Given the description of an element on the screen output the (x, y) to click on. 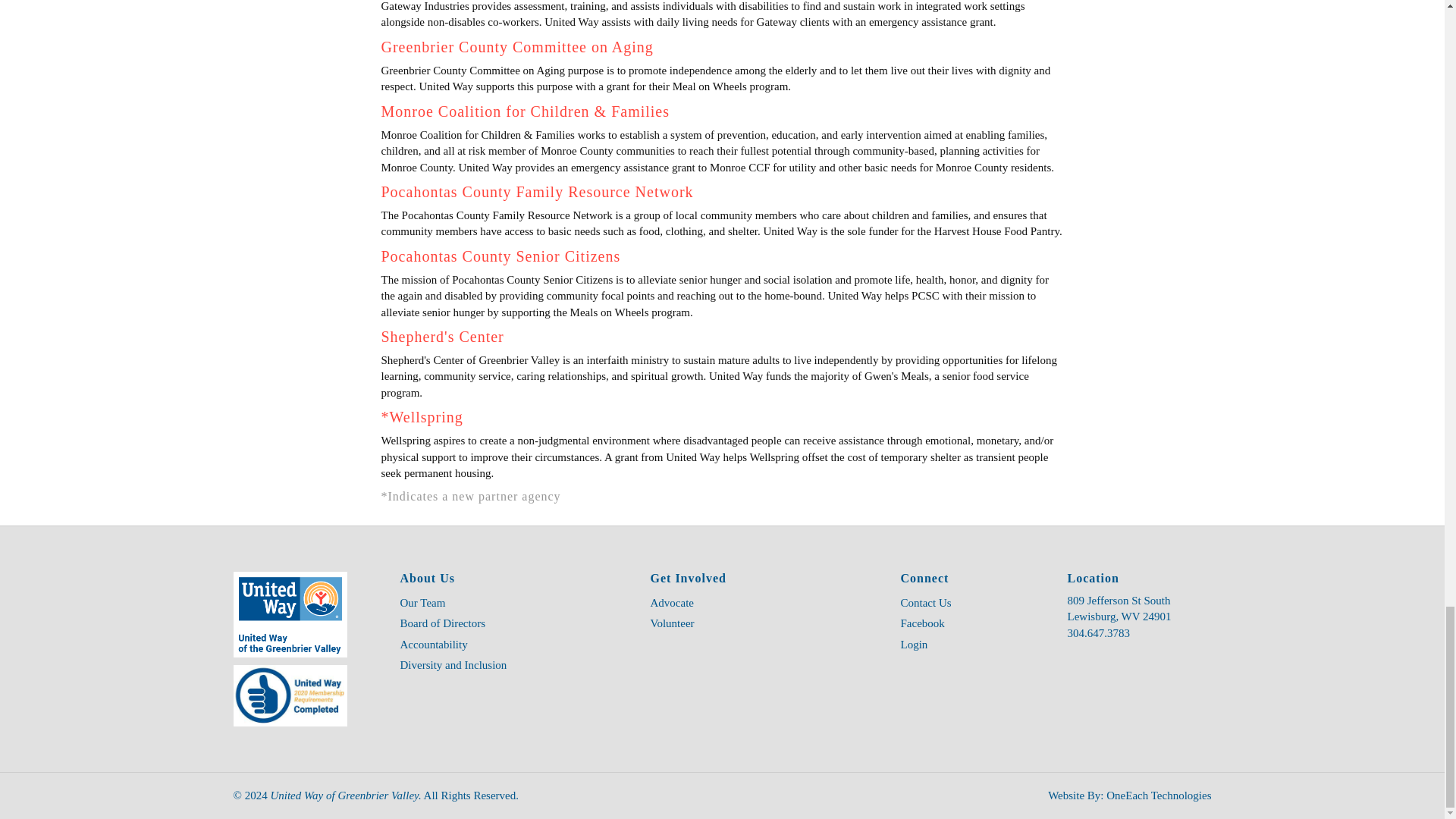
OneEach Technologies (1157, 795)
